Given the description of an element on the screen output the (x, y) to click on. 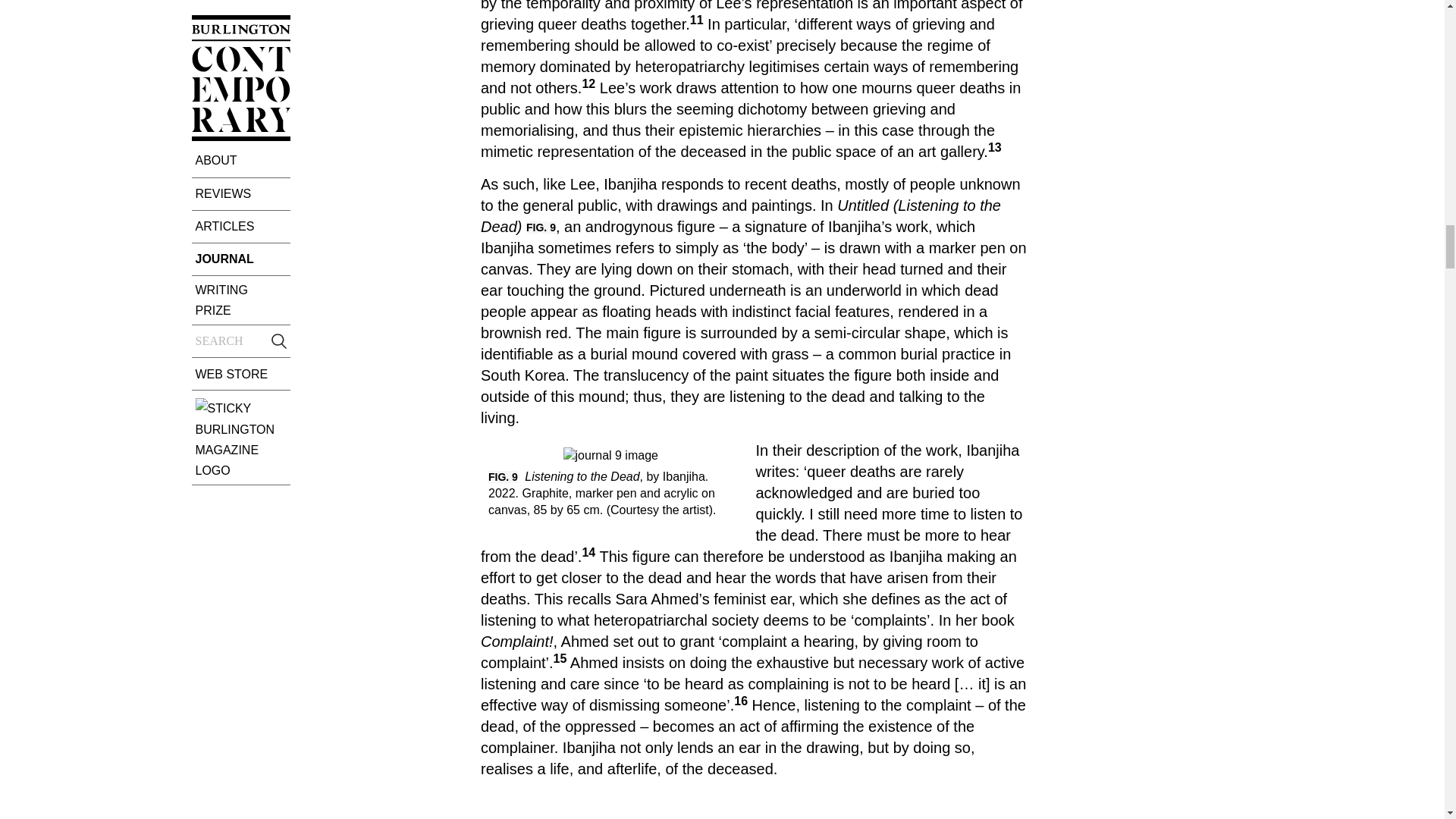
14 (587, 552)
12 (587, 83)
11 (696, 19)
13 (994, 146)
15 (560, 658)
16 (740, 700)
